Given the description of an element on the screen output the (x, y) to click on. 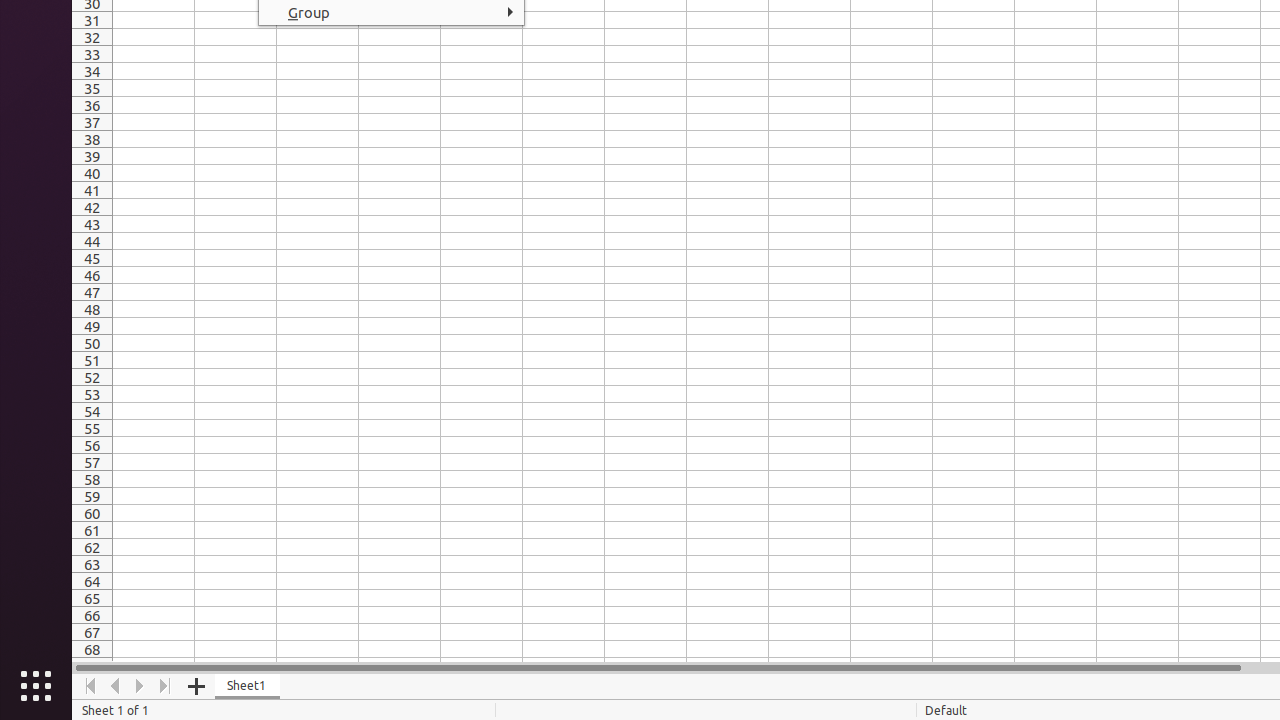
Group Element type: menu (391, 12)
Move To End Element type: push-button (165, 686)
Move Right Element type: push-button (140, 686)
Move Left Element type: push-button (115, 686)
